Given the description of an element on the screen output the (x, y) to click on. 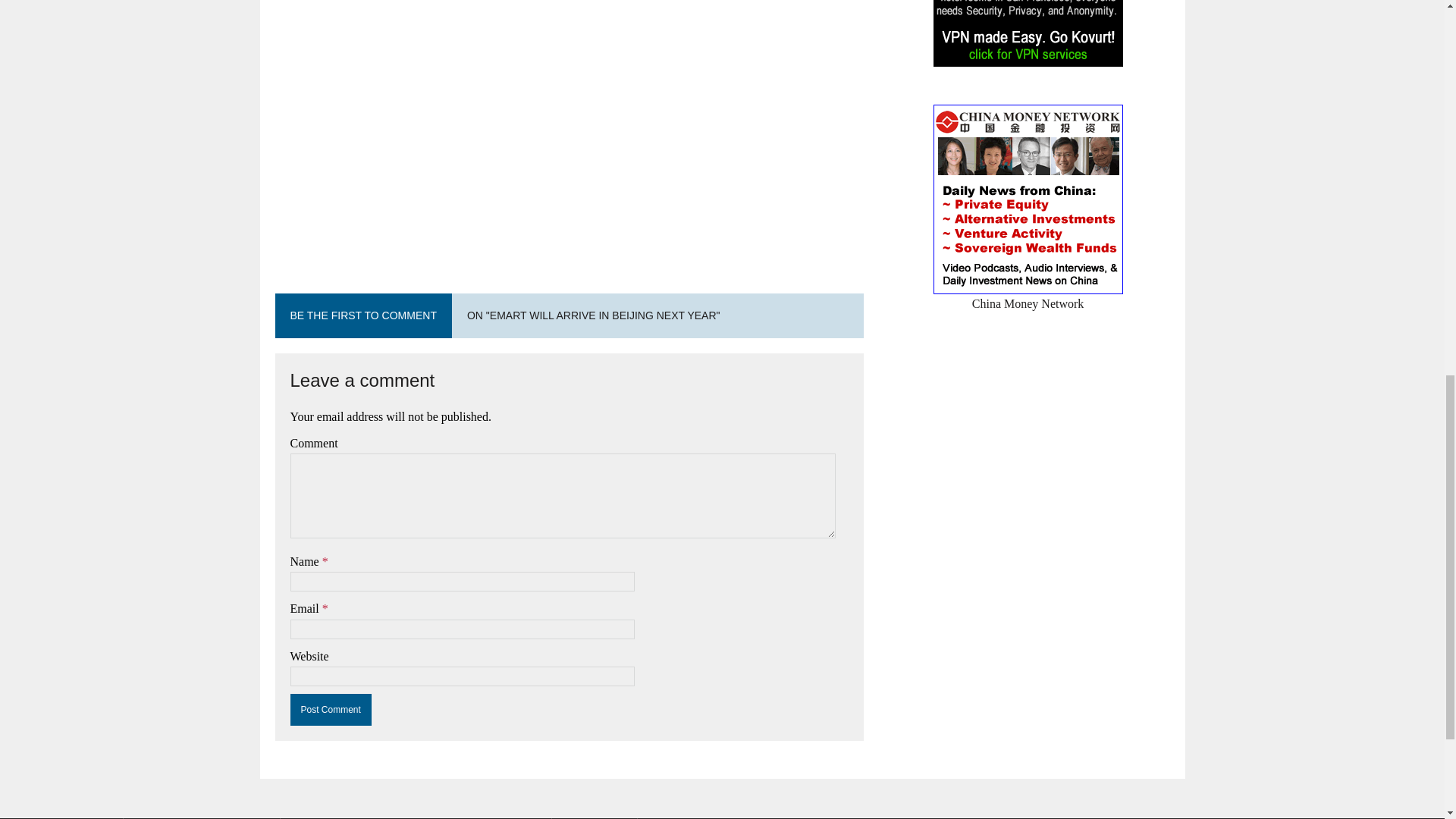
China Money Network (1027, 293)
China Money Network - Finance and Investment News Daily (1027, 293)
Post Comment (330, 709)
Post Comment (330, 709)
